Given the description of an element on the screen output the (x, y) to click on. 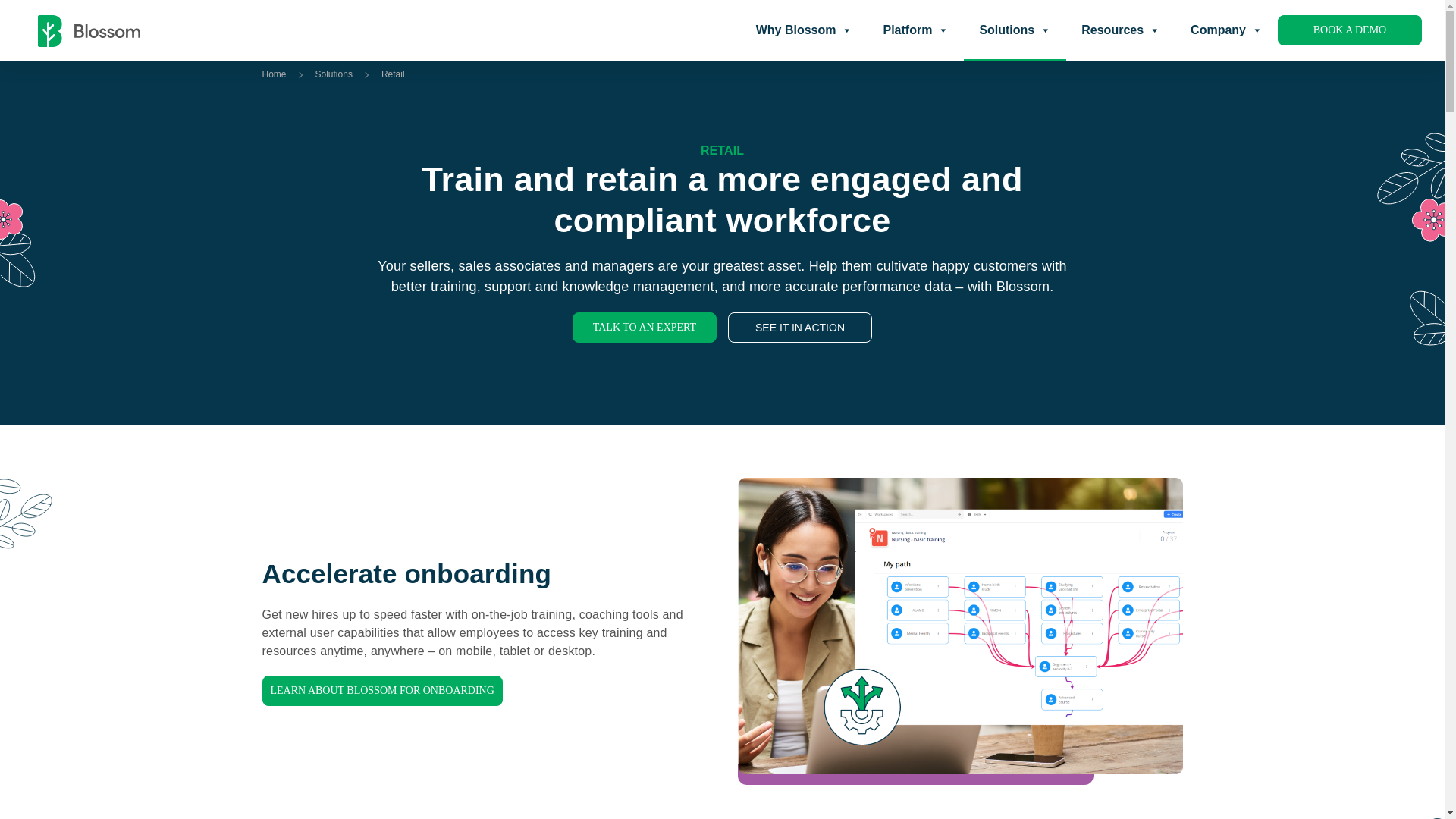
Platform (915, 30)
Go to Solutions. (333, 73)
Resources (1119, 30)
Go to Home. (274, 73)
Why Blossom (804, 30)
Solutions (1014, 30)
